Given the description of an element on the screen output the (x, y) to click on. 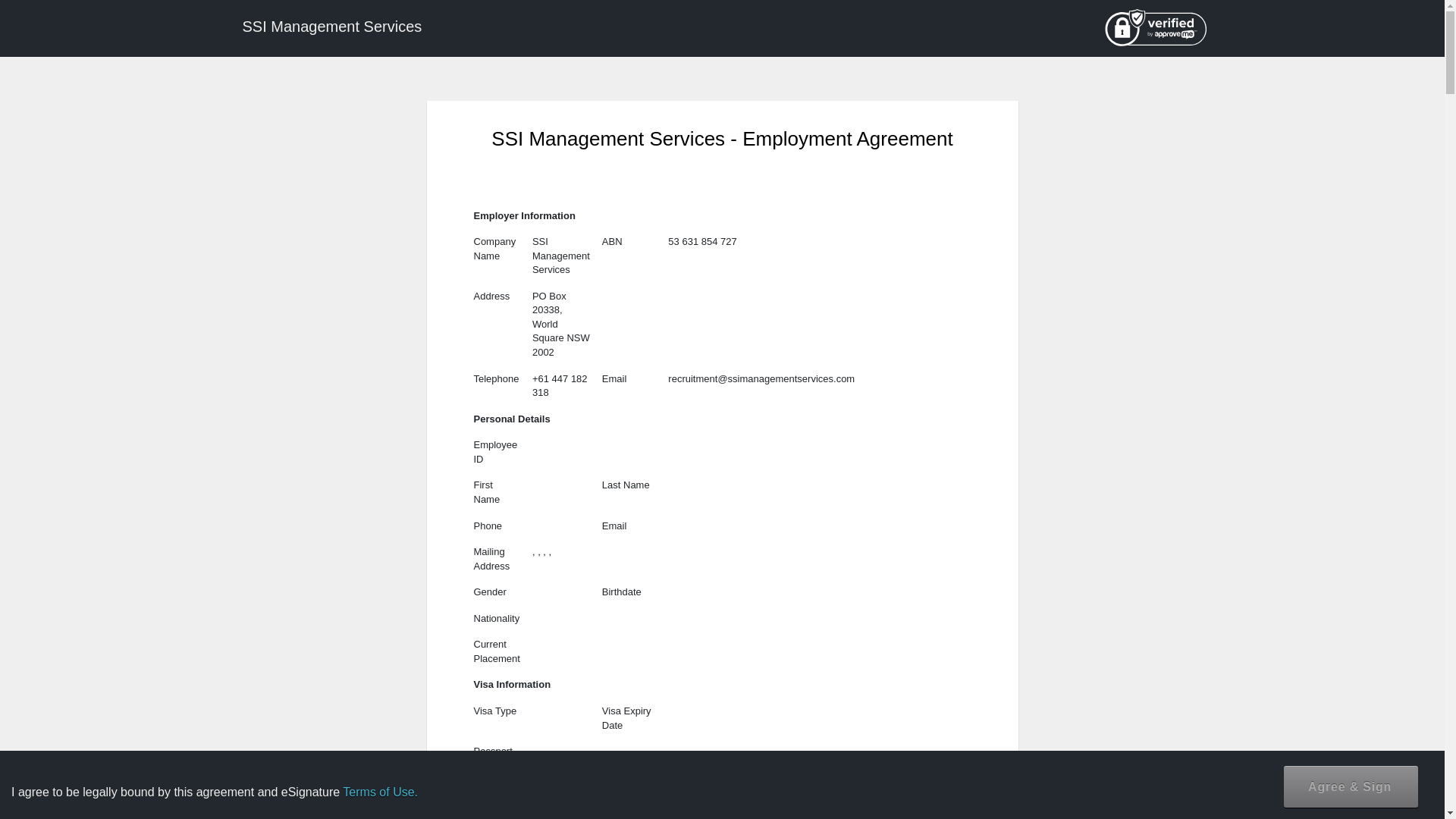
Terms of Use. (379, 791)
Agree and submit your signature. (1351, 786)
SSI Management Services (331, 27)
